Given the description of an element on the screen output the (x, y) to click on. 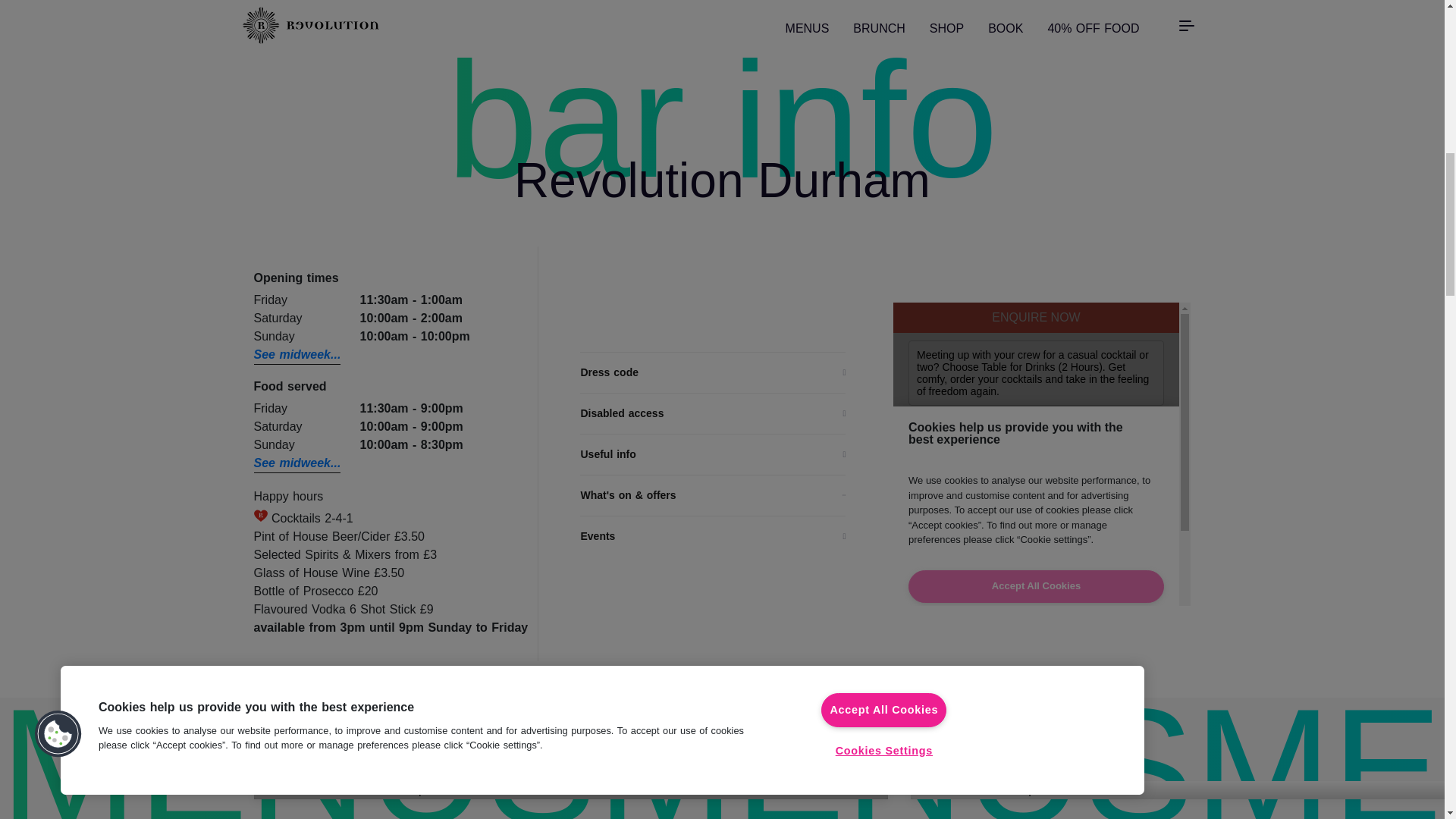
See midweek... (296, 463)
Useful info (712, 454)
Dress code (712, 372)
View food menus (761, 759)
Dress code (712, 372)
Events (712, 535)
Disabled access (712, 413)
See midweek... (296, 354)
Useful info (712, 454)
Disabled access (712, 413)
Events (712, 535)
SCROLL (722, 21)
